Given the description of an element on the screen output the (x, y) to click on. 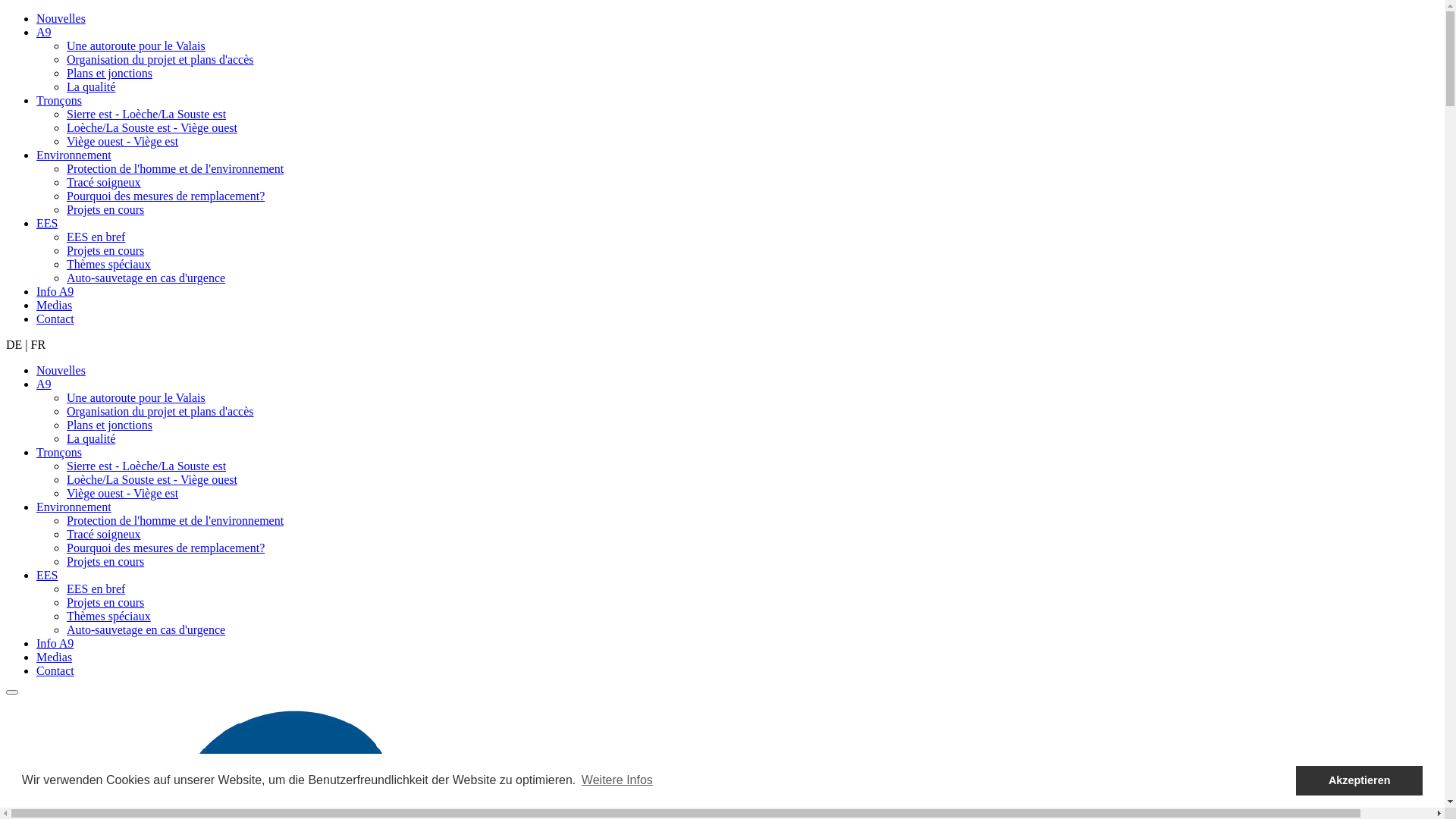
Info A9 Element type: text (54, 291)
Plans et jonctions Element type: text (109, 72)
Auto-sauvetage en cas d'urgence Element type: text (145, 277)
Akzeptieren Element type: text (1358, 780)
A9 Element type: text (43, 383)
Environnement Element type: text (73, 154)
Medias Element type: text (54, 304)
Pourquoi des mesures de remplacement? Element type: text (165, 547)
Projets en cours Element type: text (105, 561)
Une autoroute pour le Valais Element type: text (135, 45)
Une autoroute pour le Valais Element type: text (135, 397)
DE Element type: text (13, 344)
FR Element type: text (38, 344)
EES Element type: text (46, 574)
Environnement Element type: text (73, 506)
Contact Element type: text (55, 670)
EES en bref Element type: text (95, 236)
Projets en cours Element type: text (105, 250)
Medias Element type: text (54, 656)
EES en bref Element type: text (95, 588)
Nouvelles Element type: text (60, 370)
A9 Element type: text (43, 31)
Projets en cours Element type: text (105, 602)
Projets en cours Element type: text (105, 209)
Protection de l'homme et de l'environnement Element type: text (174, 168)
Contact Element type: text (55, 318)
Protection de l'homme et de l'environnement Element type: text (174, 520)
Auto-sauvetage en cas d'urgence Element type: text (145, 629)
Plans et jonctions Element type: text (109, 424)
Pourquoi des mesures de remplacement? Element type: text (165, 195)
Nouvelles Element type: text (60, 18)
Weitere Infos Element type: text (617, 779)
EES Element type: text (46, 222)
Info A9 Element type: text (54, 643)
